Given the description of an element on the screen output the (x, y) to click on. 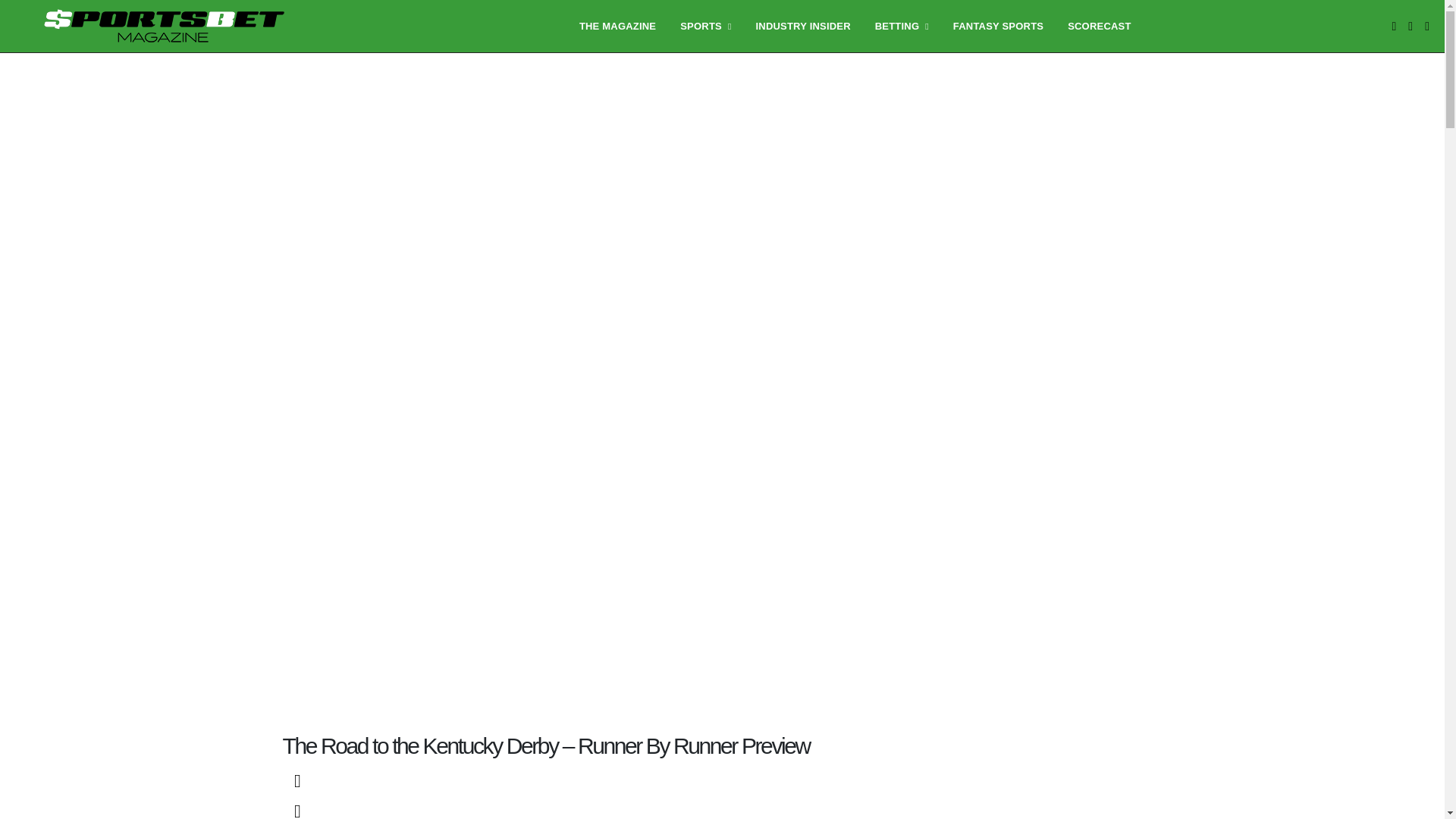
THE MAGAZINE (617, 26)
SPORTS (704, 26)
